Given the description of an element on the screen output the (x, y) to click on. 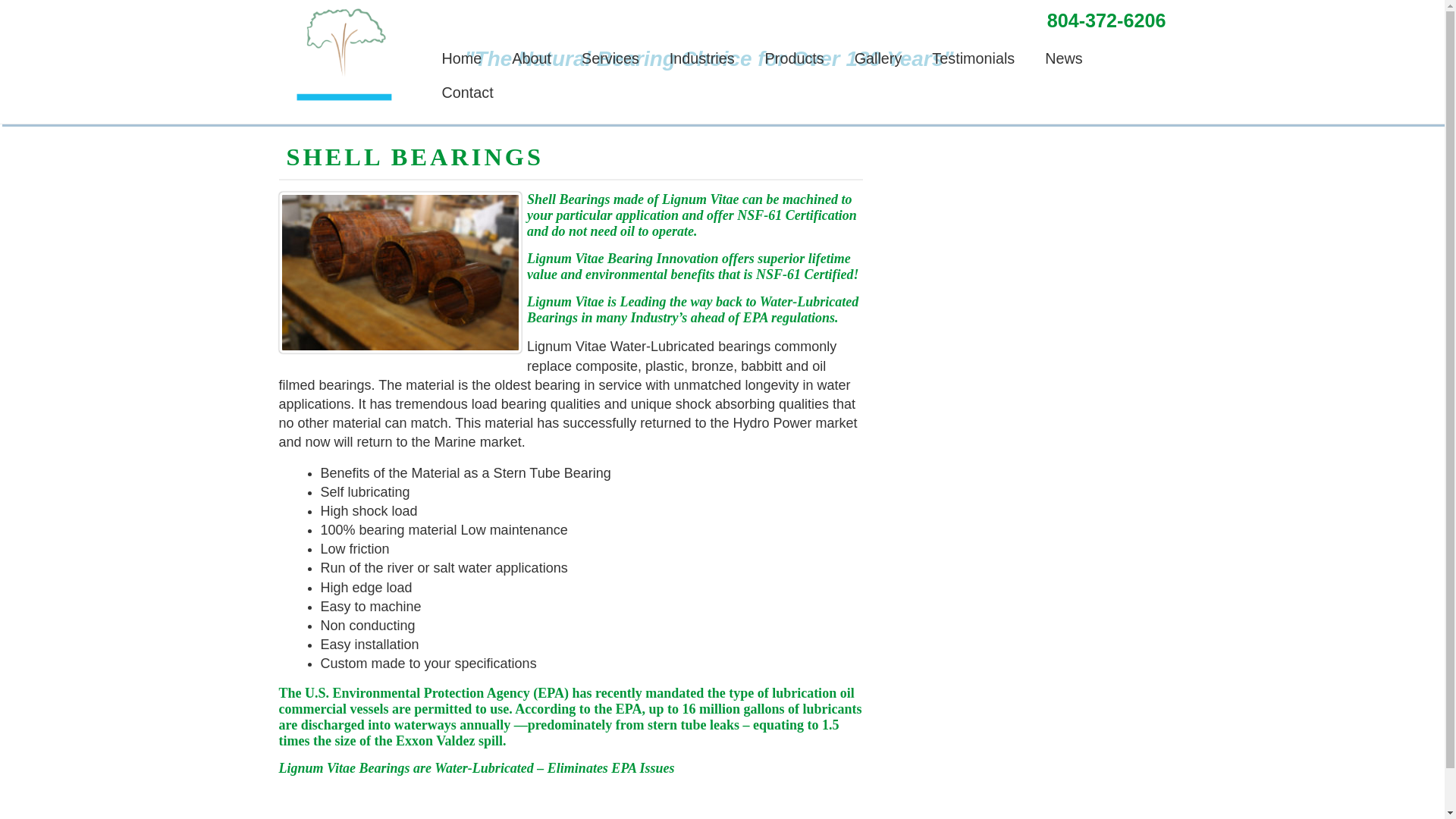
YouTube (1006, 15)
Home (461, 58)
Services (610, 58)
Home (461, 58)
Facebook (978, 15)
Industries (701, 58)
804-372-6206 (1106, 20)
About (531, 58)
Services (610, 58)
LinkedIn (1034, 15)
Products (794, 58)
About (531, 58)
Industries (701, 58)
